Given the description of an element on the screen output the (x, y) to click on. 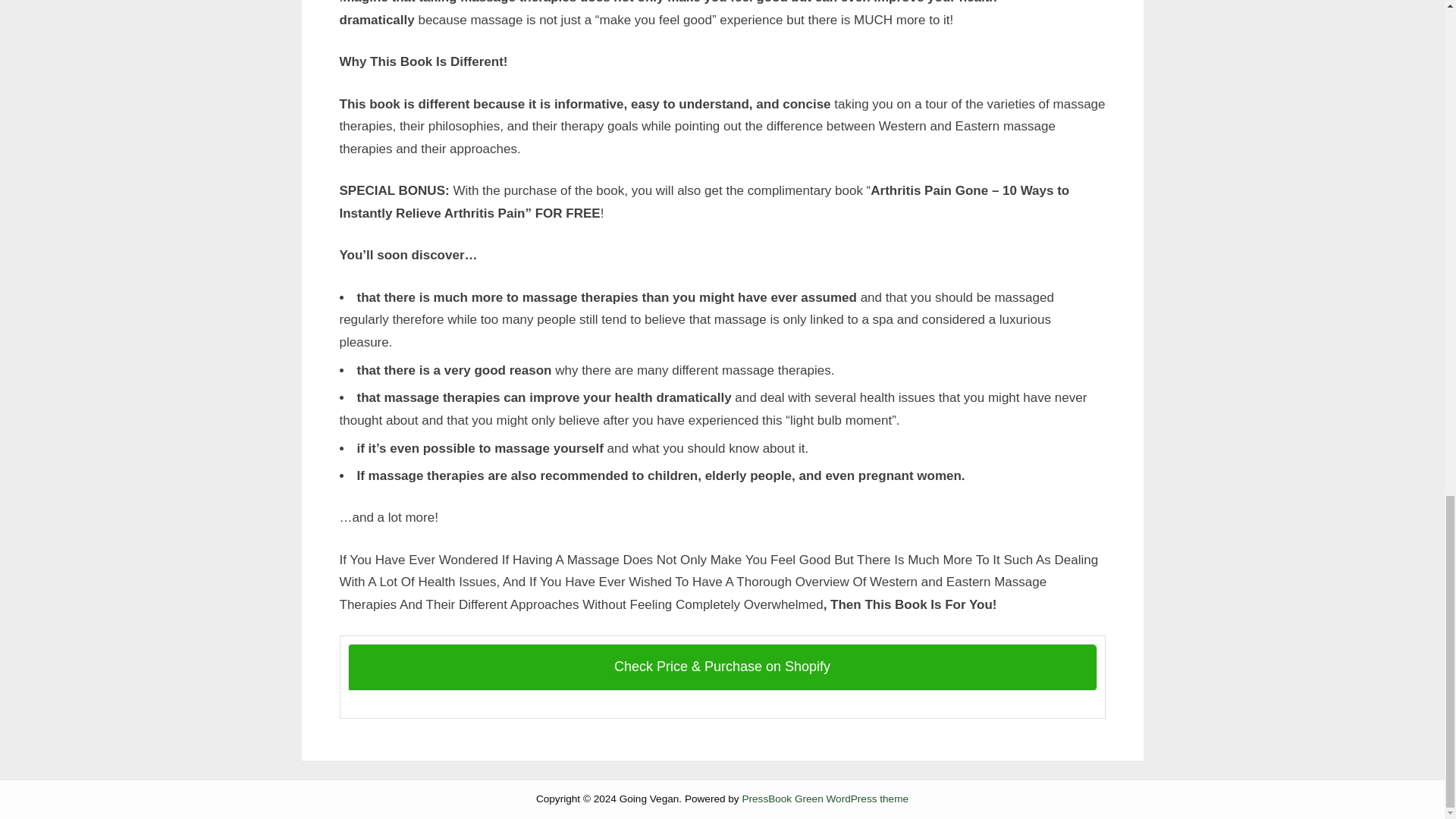
PressBook Green WordPress theme (824, 798)
